Given the description of an element on the screen output the (x, y) to click on. 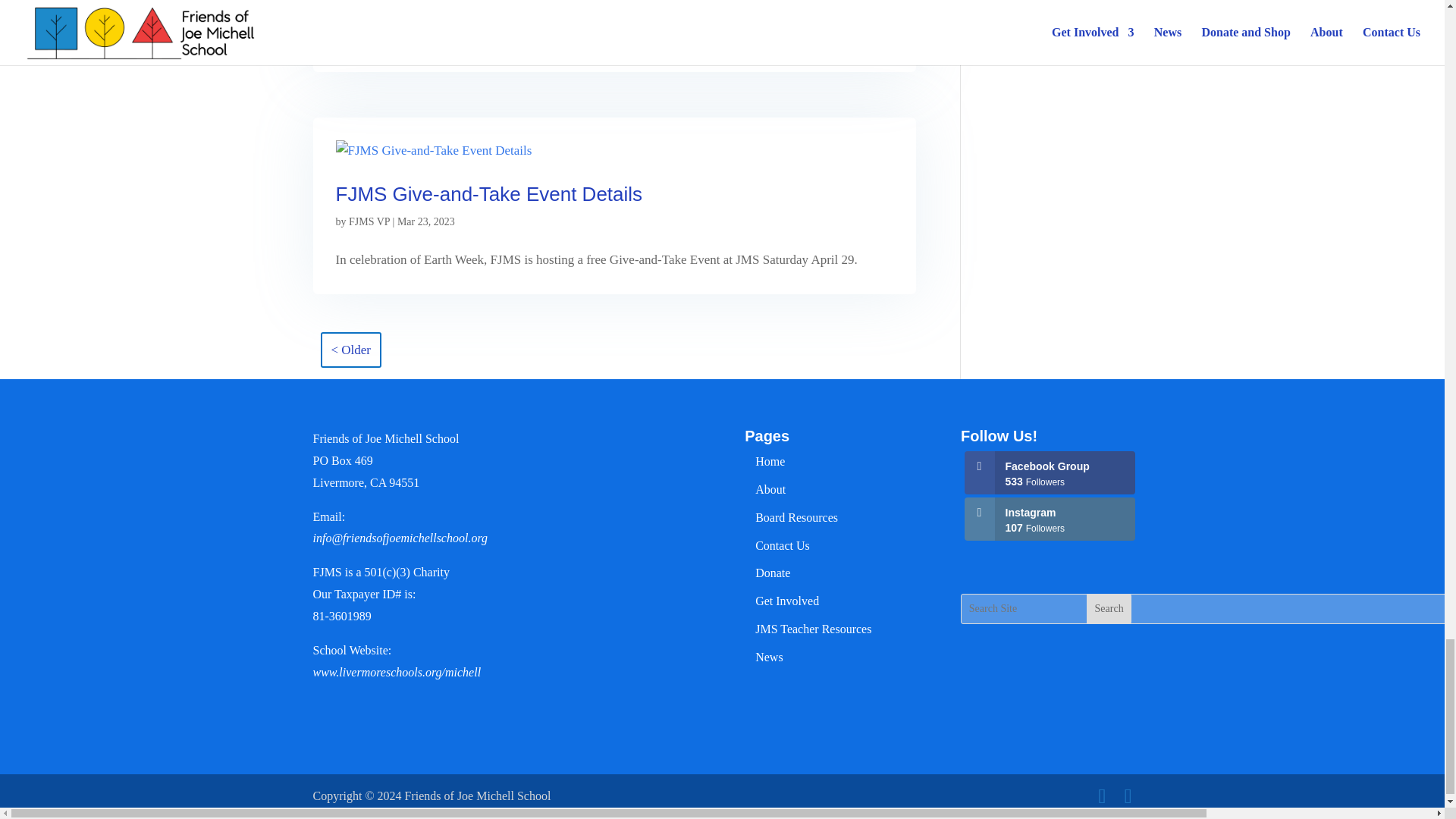
Home (769, 461)
About (770, 489)
FJMS Give-and-Take Event Details (488, 193)
Posts by FJMS VP (369, 221)
FJMS VP (369, 221)
